Given the description of an element on the screen output the (x, y) to click on. 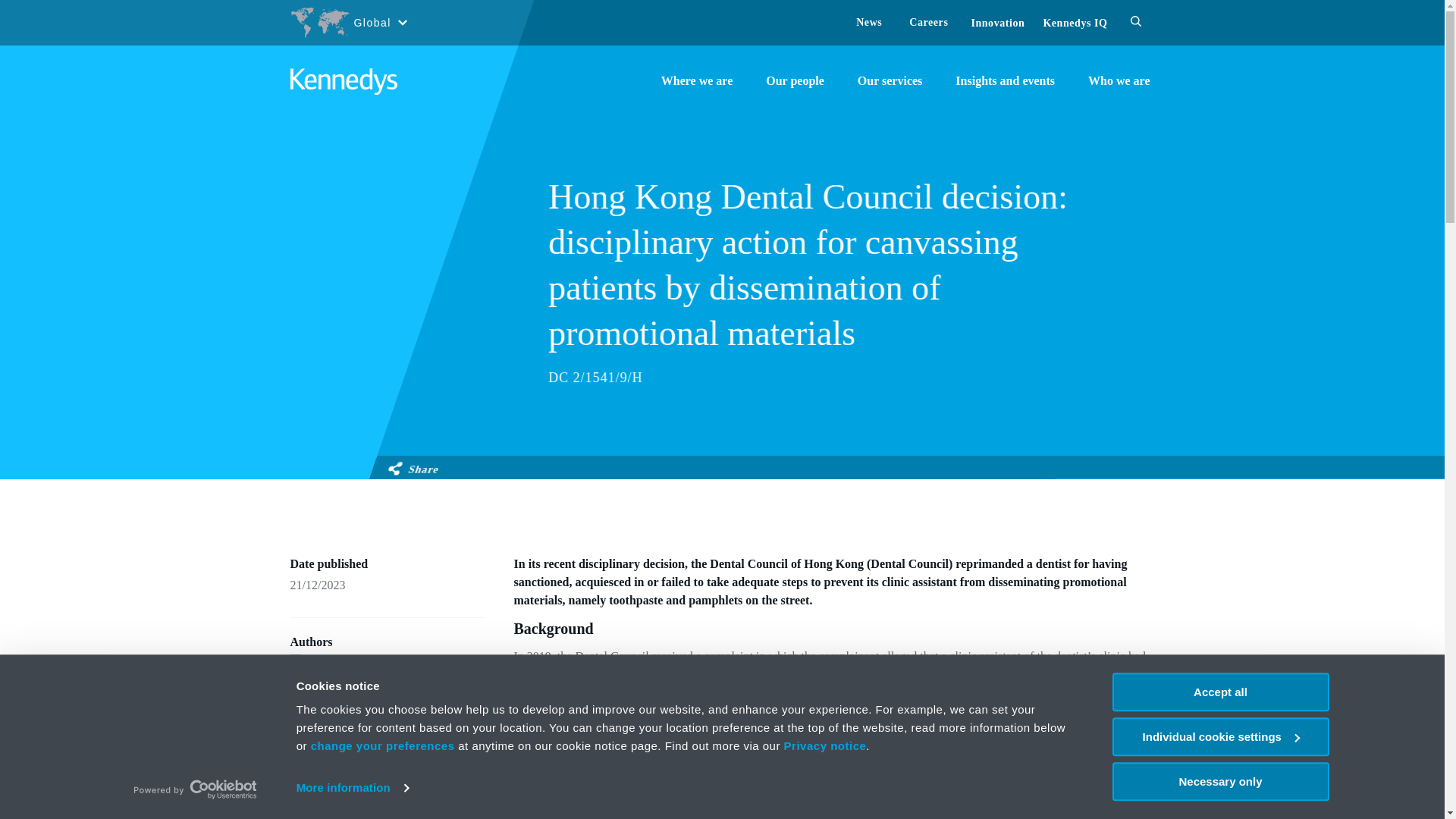
change your preferences (382, 745)
Privacy notice (825, 745)
More information (353, 787)
Innovation (998, 22)
